Given the description of an element on the screen output the (x, y) to click on. 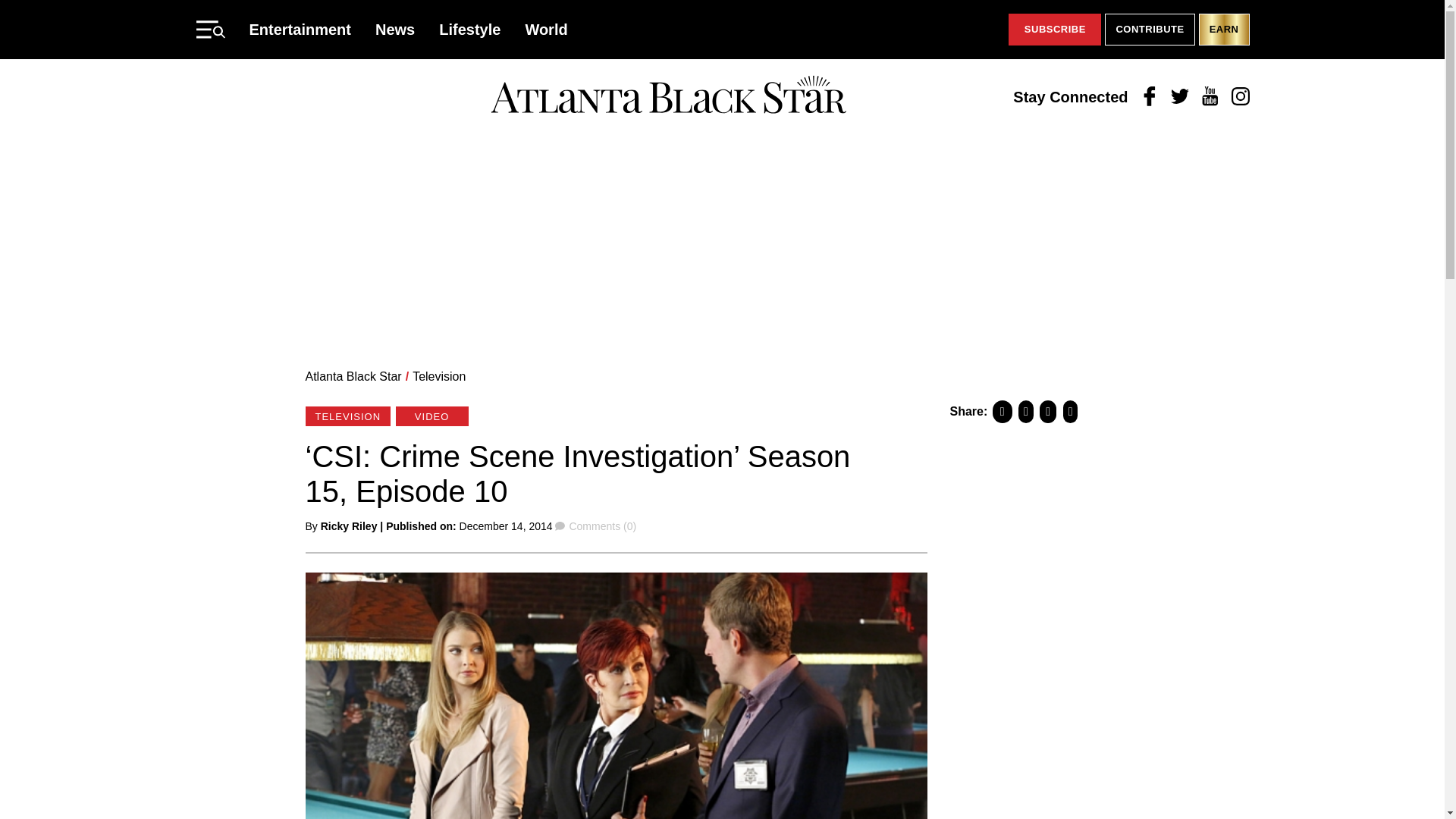
Atlanta Black Star (352, 376)
Go to the Television Category archives. (438, 376)
Lifestyle (469, 29)
News (394, 29)
Go to Atlanta Black Star. (352, 376)
Atlanta Black Star (667, 96)
SUBSCRIBE (1054, 29)
World (545, 29)
CONTRIBUTE (1149, 29)
Television (438, 376)
Entertainment (299, 29)
EARN (1223, 29)
